Given the description of an element on the screen output the (x, y) to click on. 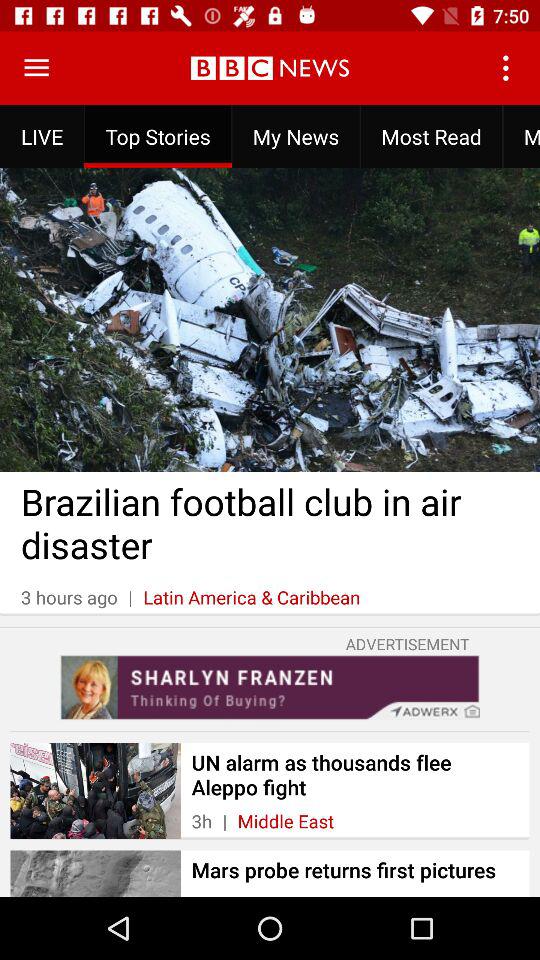
show menu (36, 68)
